Given the description of an element on the screen output the (x, y) to click on. 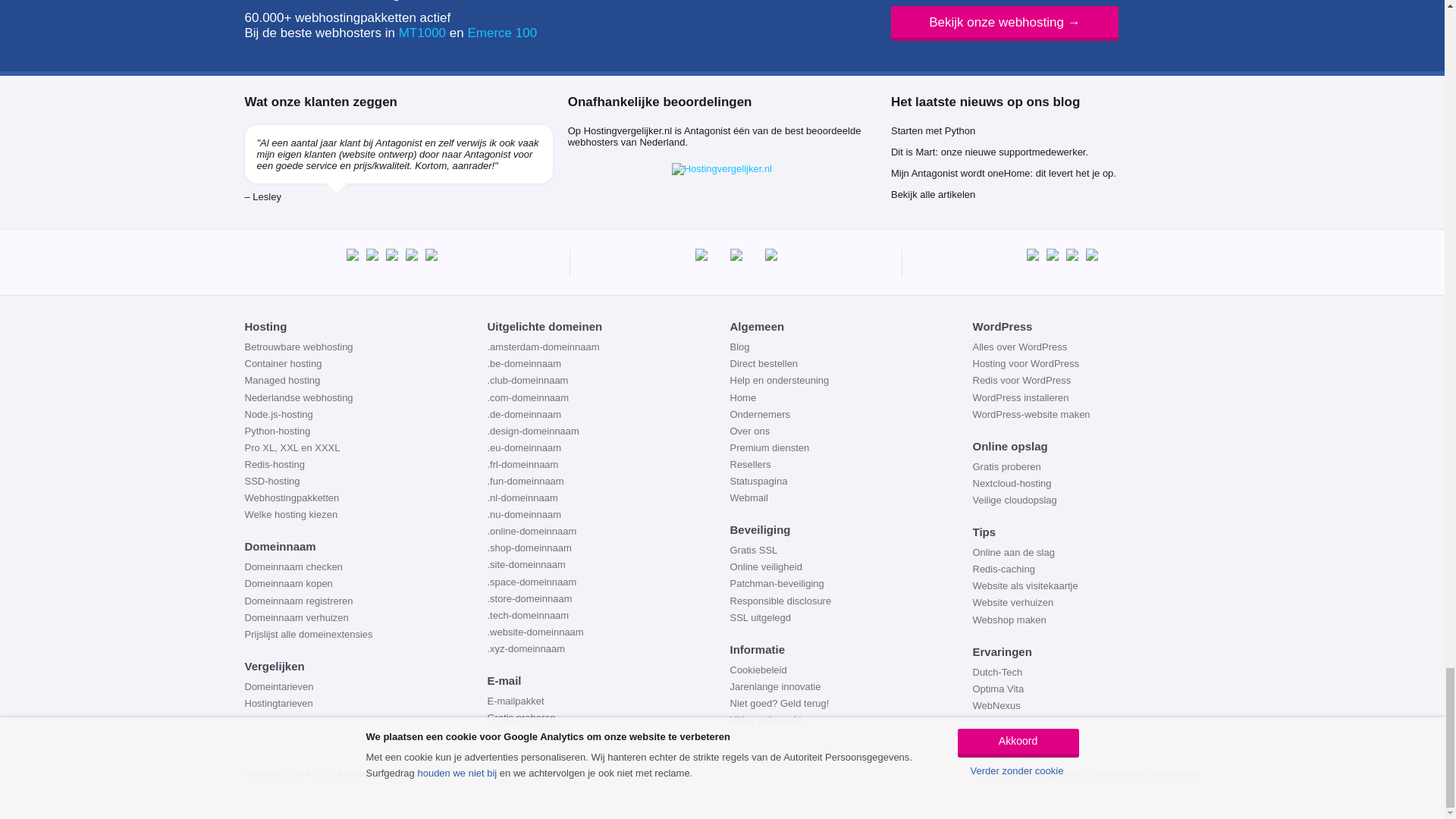
Antagonist wordt met een 9,7 beoordeeld (276, 1)
Emerce 100 (502, 32)
MT1000 (421, 32)
Zie hoe Antagonist op Hostingvergelijker.nl wordt beoordeeld (721, 168)
Kies je webhostingpakket (1004, 22)
